Given the description of an element on the screen output the (x, y) to click on. 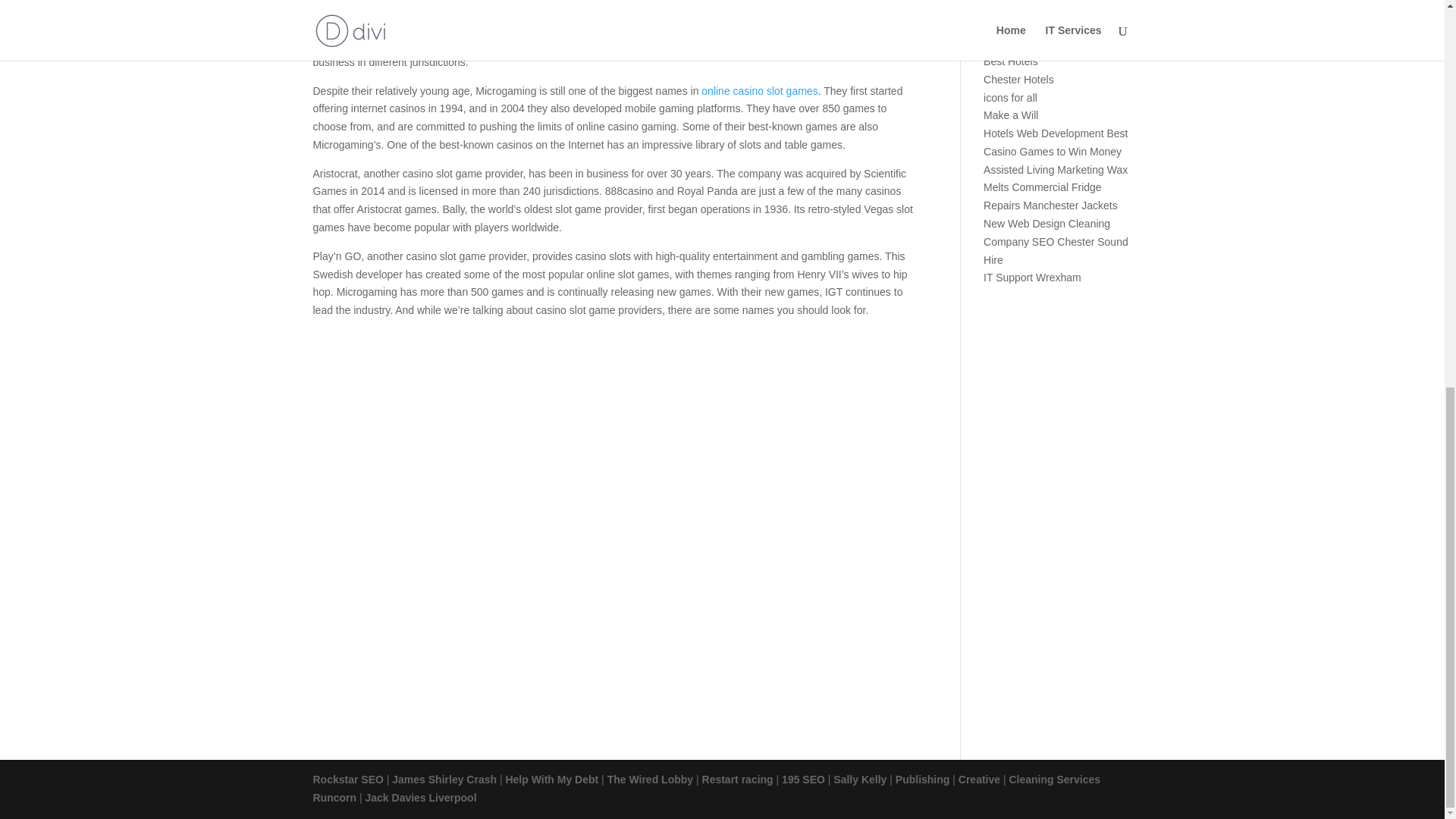
Expert SEO (1011, 7)
jackpot (815, 25)
online casino slot games (758, 91)
Cleaning Services (1026, 24)
online casino slot games (758, 91)
jackpot (815, 25)
Hotels (998, 42)
